Given the description of an element on the screen output the (x, y) to click on. 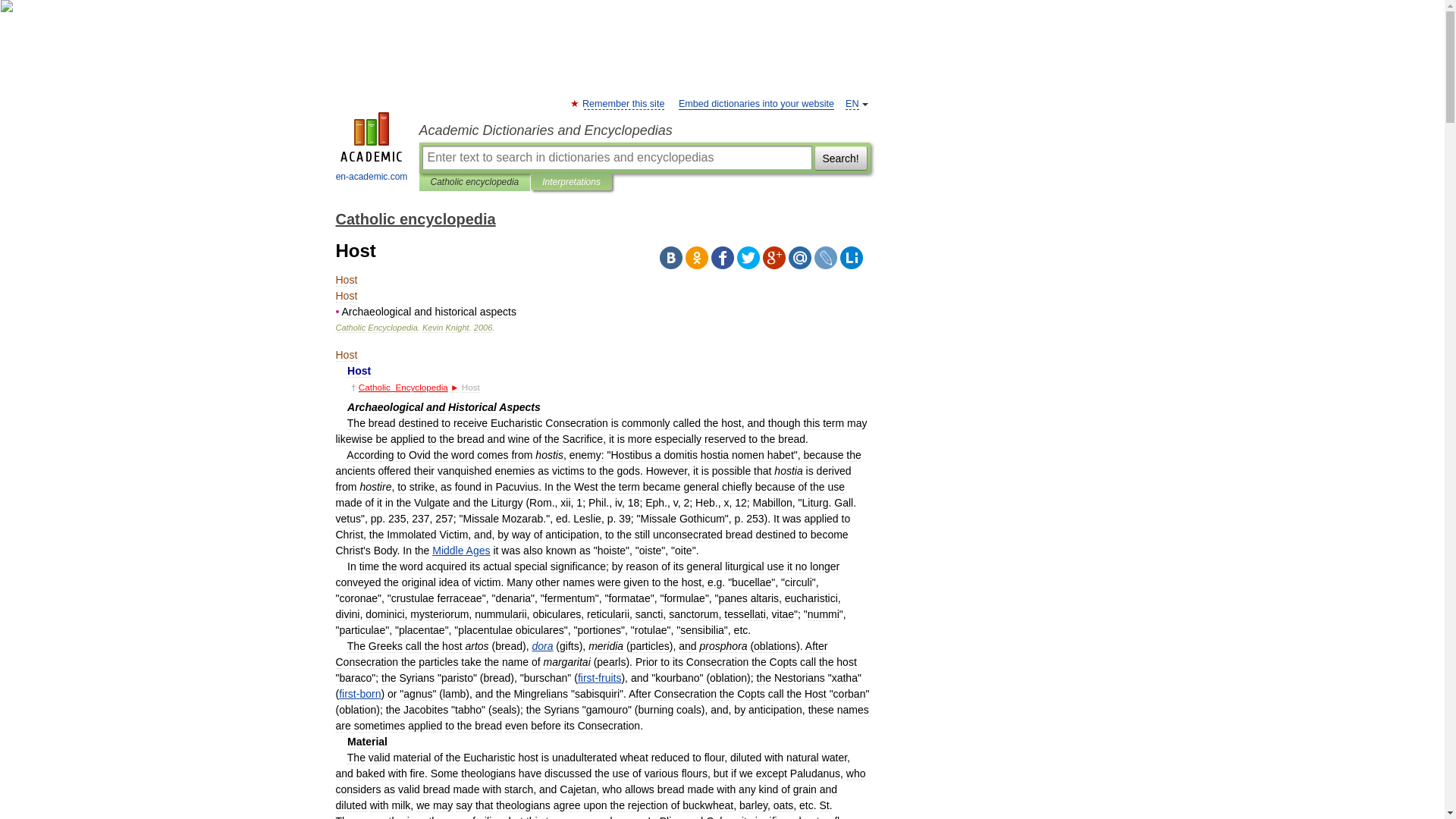
first-fruits (599, 677)
Search! (840, 157)
Interpretations (570, 181)
dora (542, 645)
Catholic encyclopedia (414, 218)
Remember this site (623, 103)
Enter text to search in dictionaries and encyclopedias (616, 157)
Middle Ages (460, 550)
Catholic encyclopedia (474, 181)
en-academic.com (371, 148)
Embed dictionaries into your website (756, 103)
Academic Dictionaries and Encyclopedias (644, 130)
first-born (359, 693)
EN (852, 103)
